Given the description of an element on the screen output the (x, y) to click on. 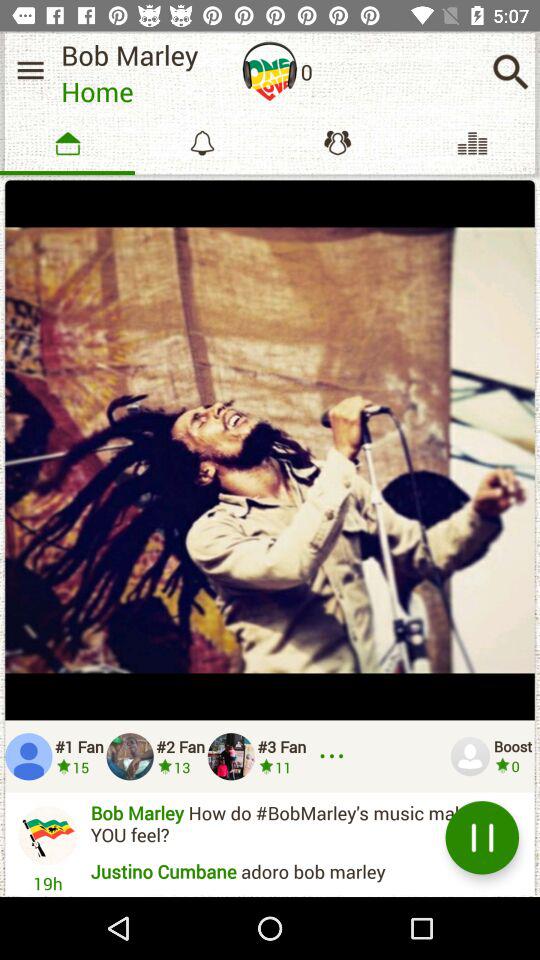
choose item to the right of ibrahim usman am (482, 837)
